Given the description of an element on the screen output the (x, y) to click on. 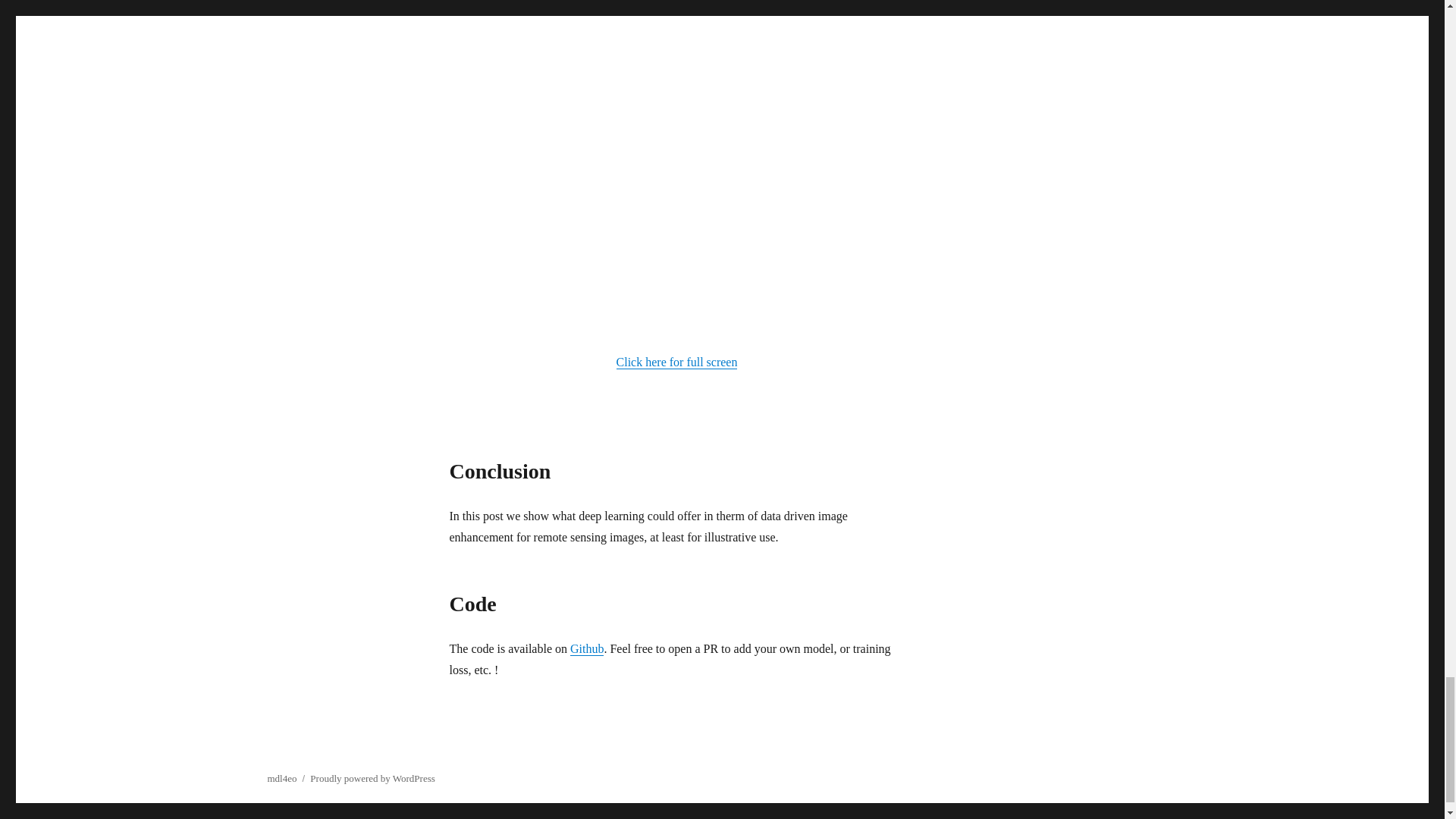
Click here for full screen (676, 361)
Github (587, 648)
